Given the description of an element on the screen output the (x, y) to click on. 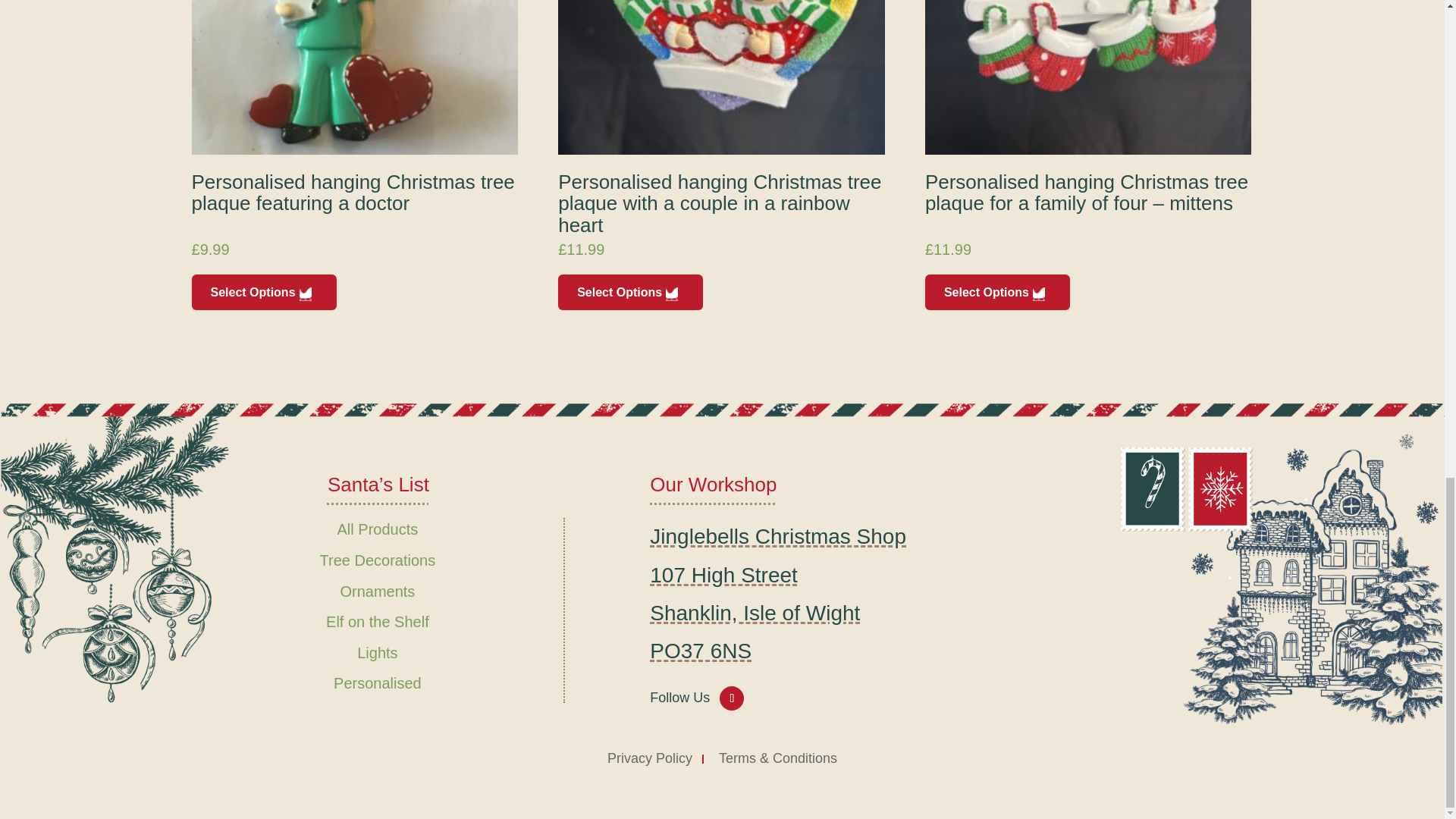
Personalised (377, 682)
Follow on Facebook (731, 698)
Ornaments (376, 591)
Elf on the Shelf (377, 621)
Select Options (630, 292)
Select Options (997, 292)
Lights (376, 652)
Select Options (263, 292)
Privacy Policy (650, 758)
All Products (378, 528)
Tree Decorations (377, 560)
